Given the description of an element on the screen output the (x, y) to click on. 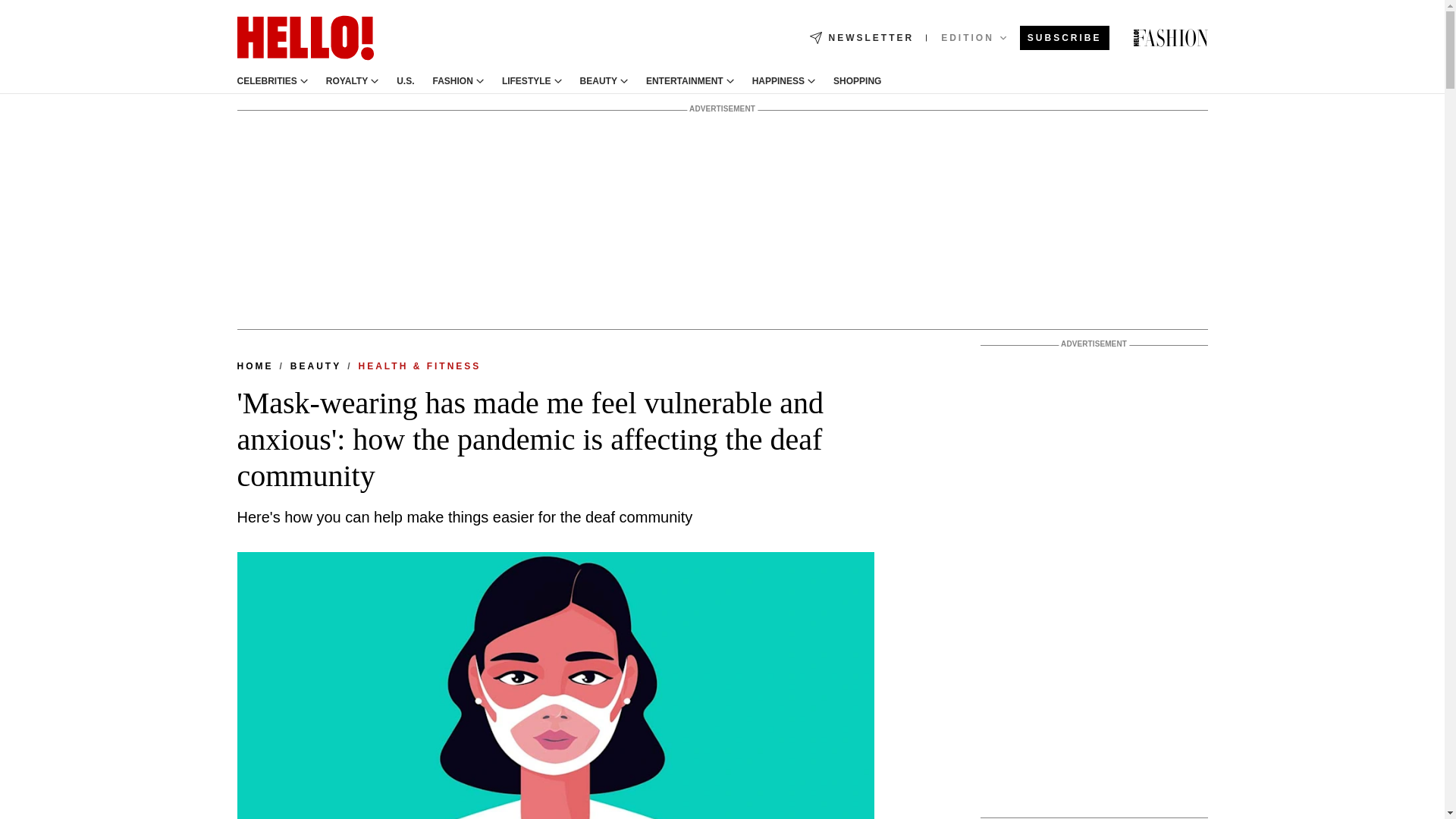
CELEBRITIES (266, 81)
ROYALTY (347, 81)
U.S. (404, 81)
FASHION (452, 81)
NEWSLETTER (861, 38)
BEAUTY (598, 81)
